Given the description of an element on the screen output the (x, y) to click on. 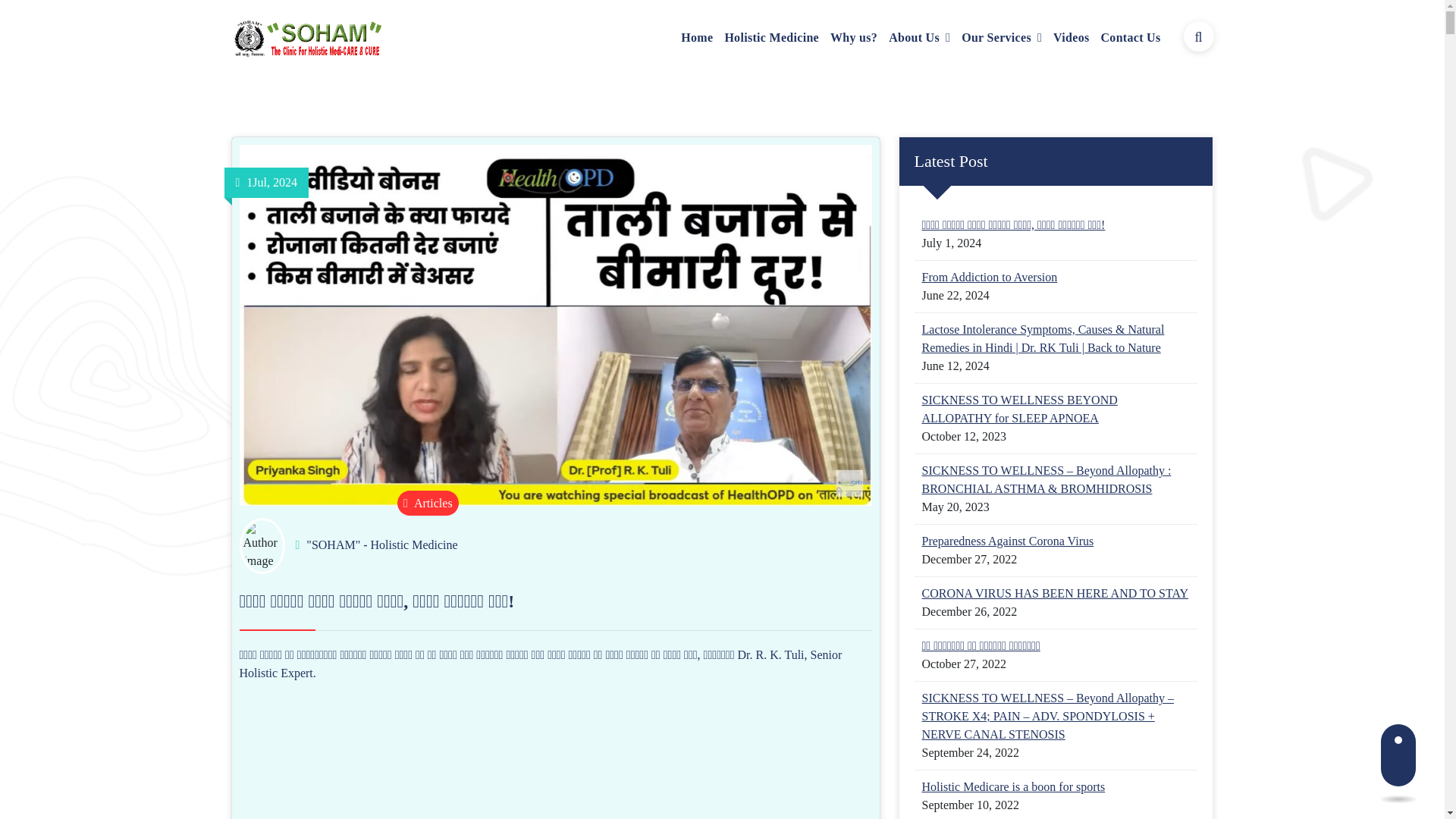
Holistic Medicine (770, 38)
Holistic Medicine (770, 38)
Our Services (1001, 38)
Our Services (1001, 38)
